Given the description of an element on the screen output the (x, y) to click on. 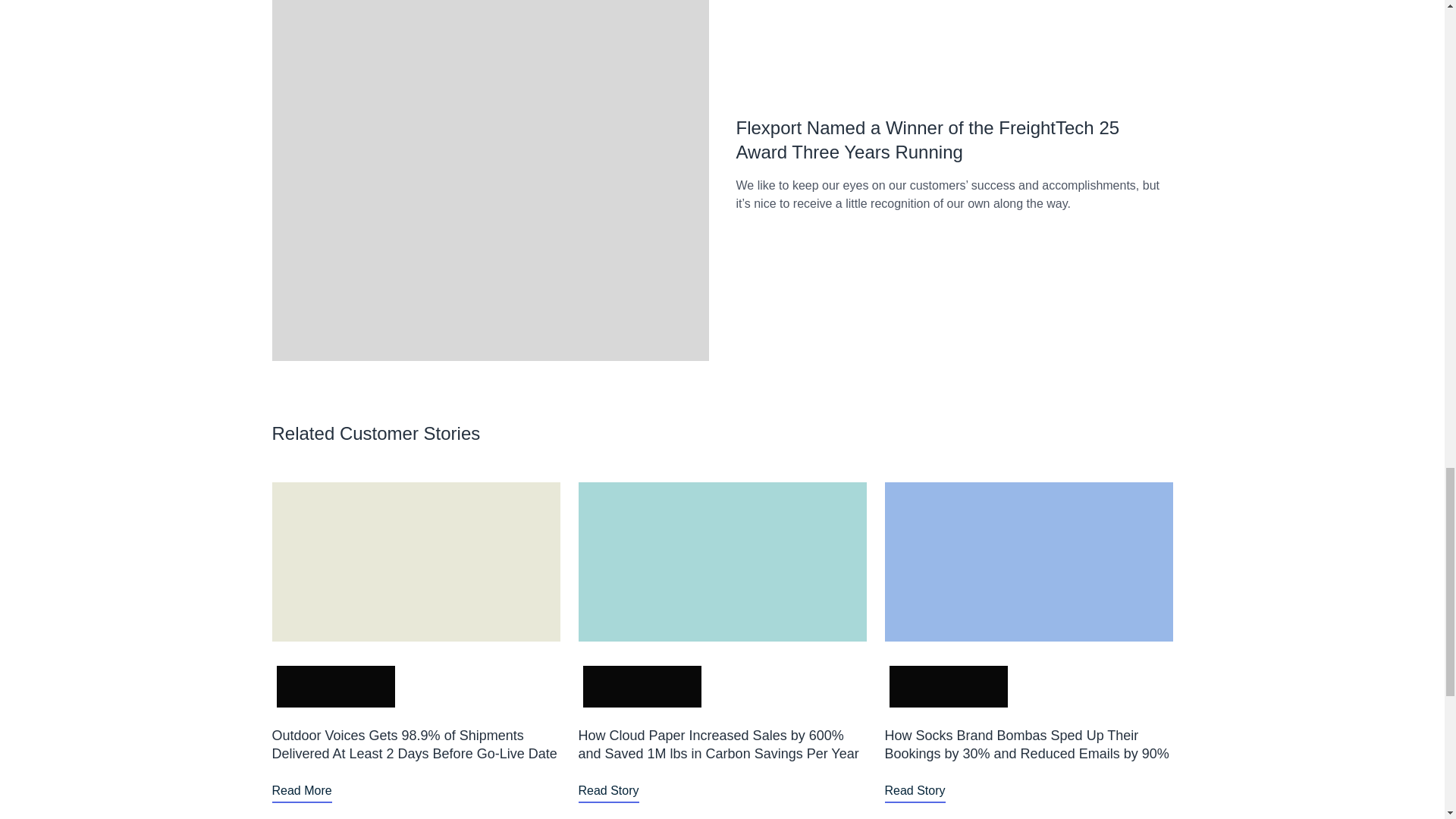
Read Story (913, 791)
Read Story (608, 791)
Read More (300, 791)
